Given the description of an element on the screen output the (x, y) to click on. 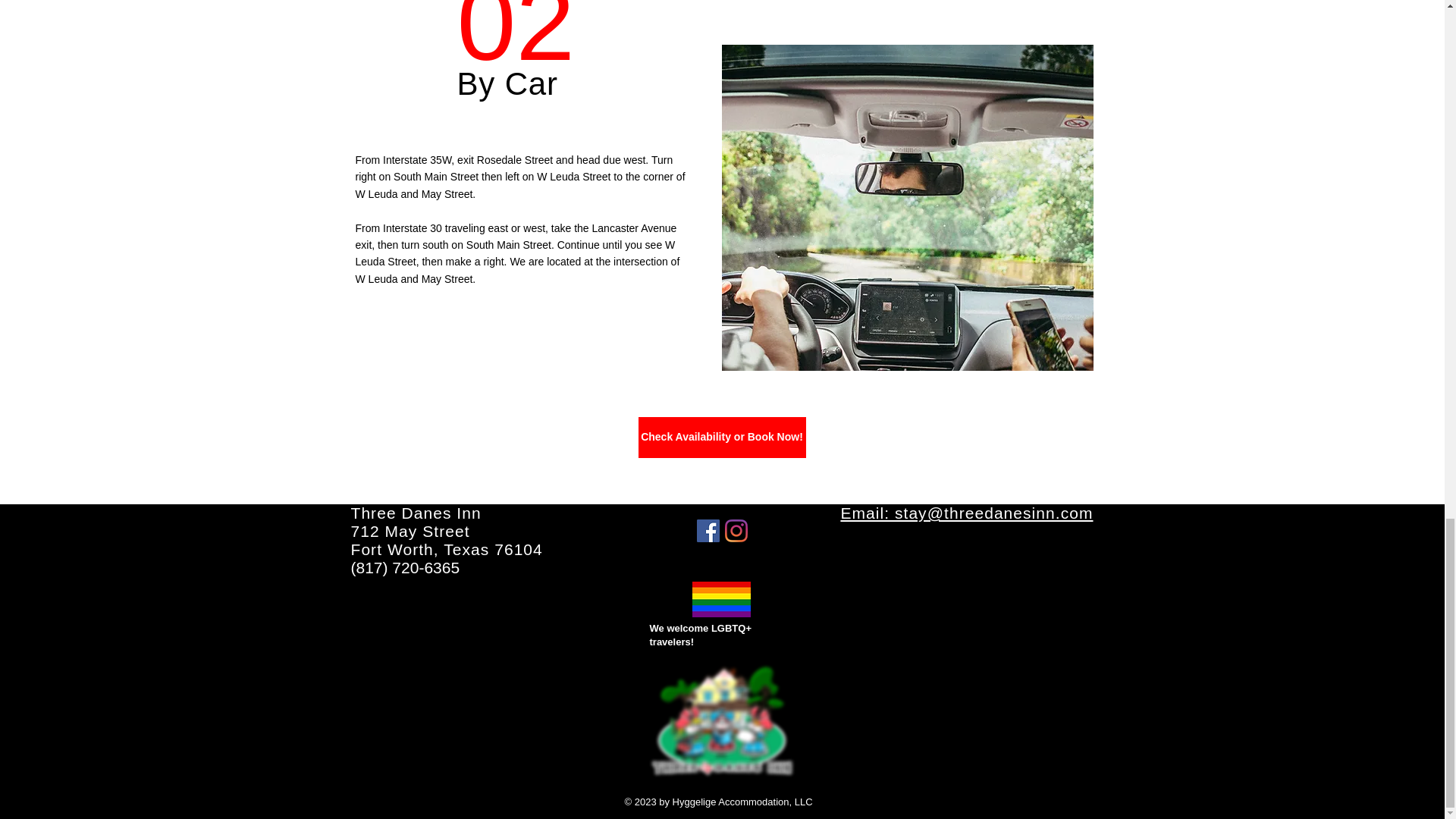
See what Hygge is all about!  Book today (721, 721)
Check Availability or Book Now! (445, 530)
Pride Flag.png (722, 436)
